Given the description of an element on the screen output the (x, y) to click on. 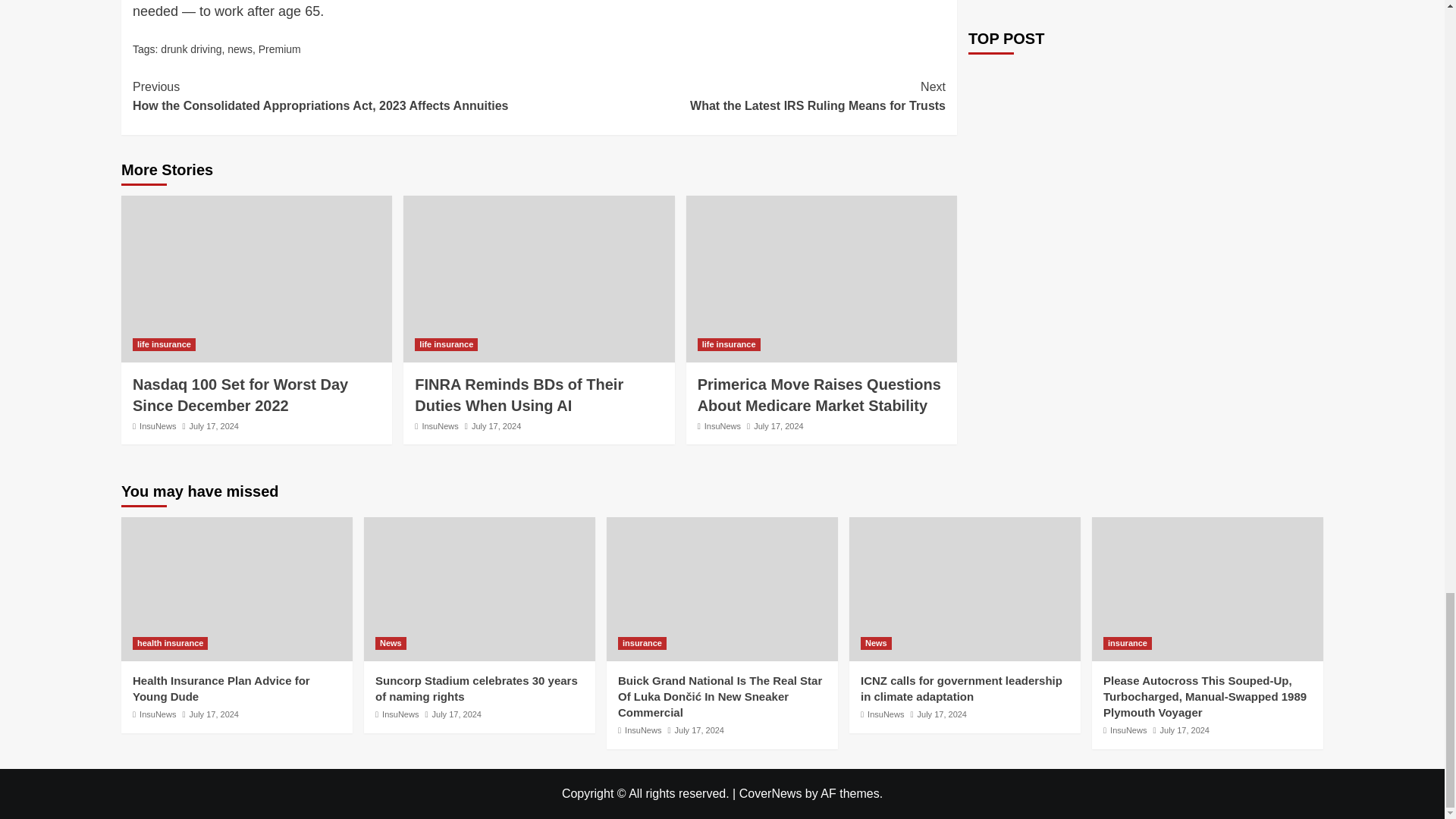
July 17, 2024 (496, 425)
InsuNews (440, 425)
Premium (280, 49)
life insurance (728, 344)
FINRA Reminds BDs of Their Duties When Using AI (741, 96)
Nasdaq 100 Set for Worst Day Since December 2022 (518, 394)
news (239, 394)
drunk driving (239, 49)
life insurance (190, 49)
July 17, 2024 (163, 344)
InsuNews (213, 425)
life insurance (157, 425)
